Given the description of an element on the screen output the (x, y) to click on. 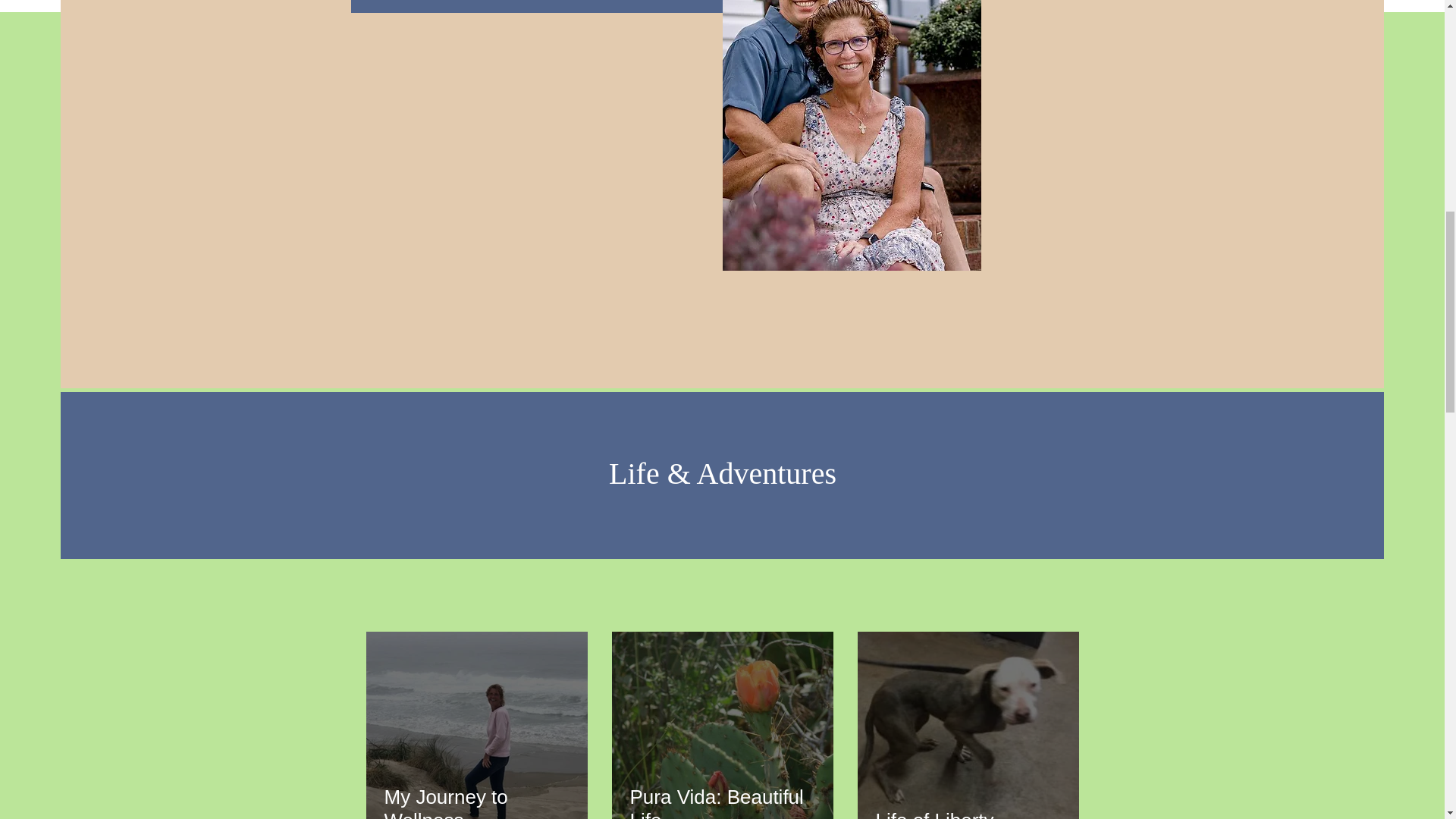
Pura Vida: Beautiful Life (720, 801)
Life of Liberty (967, 813)
My Journey to Wellness (476, 801)
